Given the description of an element on the screen output the (x, y) to click on. 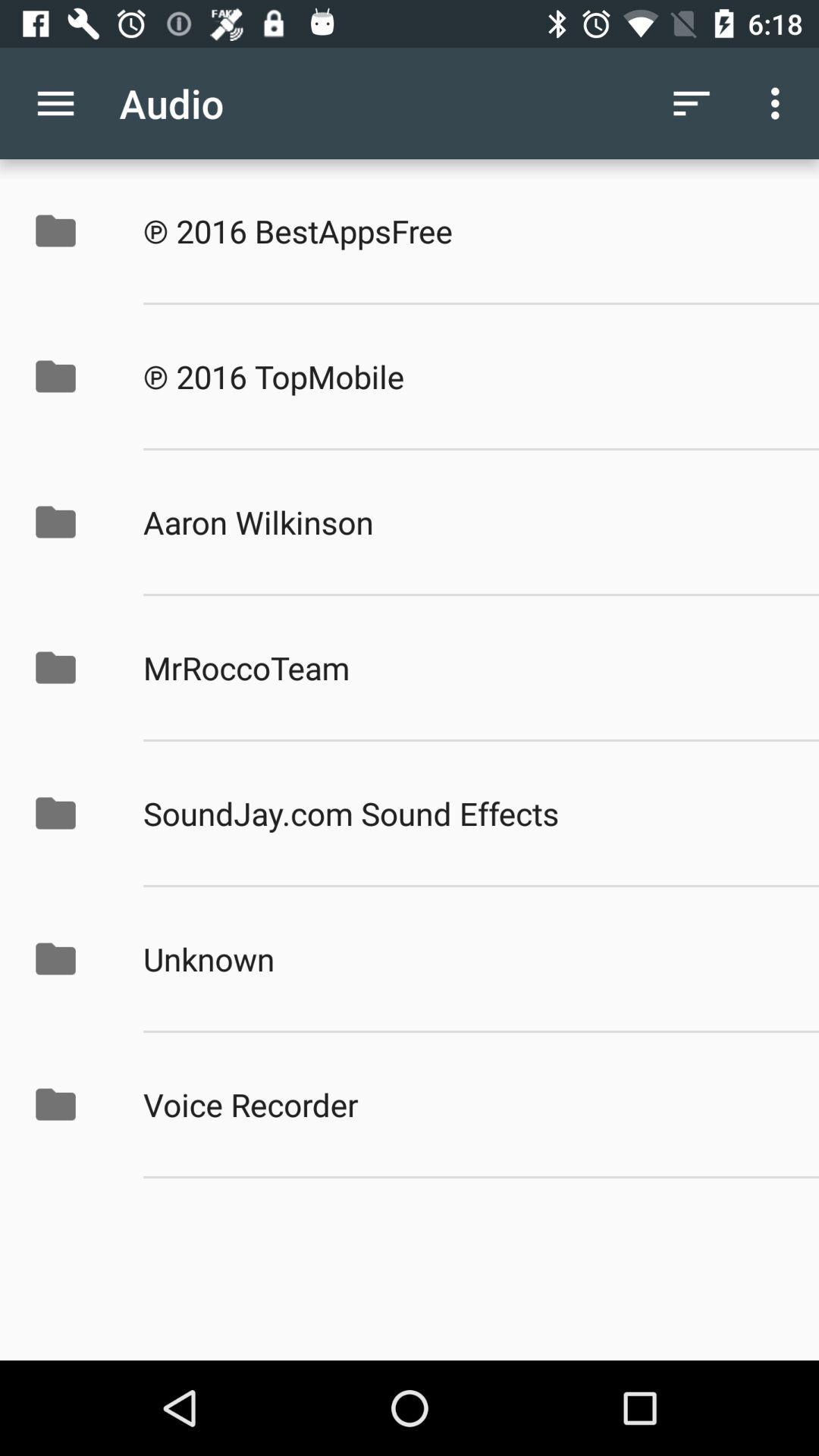
select item above soundjay com sound item (465, 667)
